Given the description of an element on the screen output the (x, y) to click on. 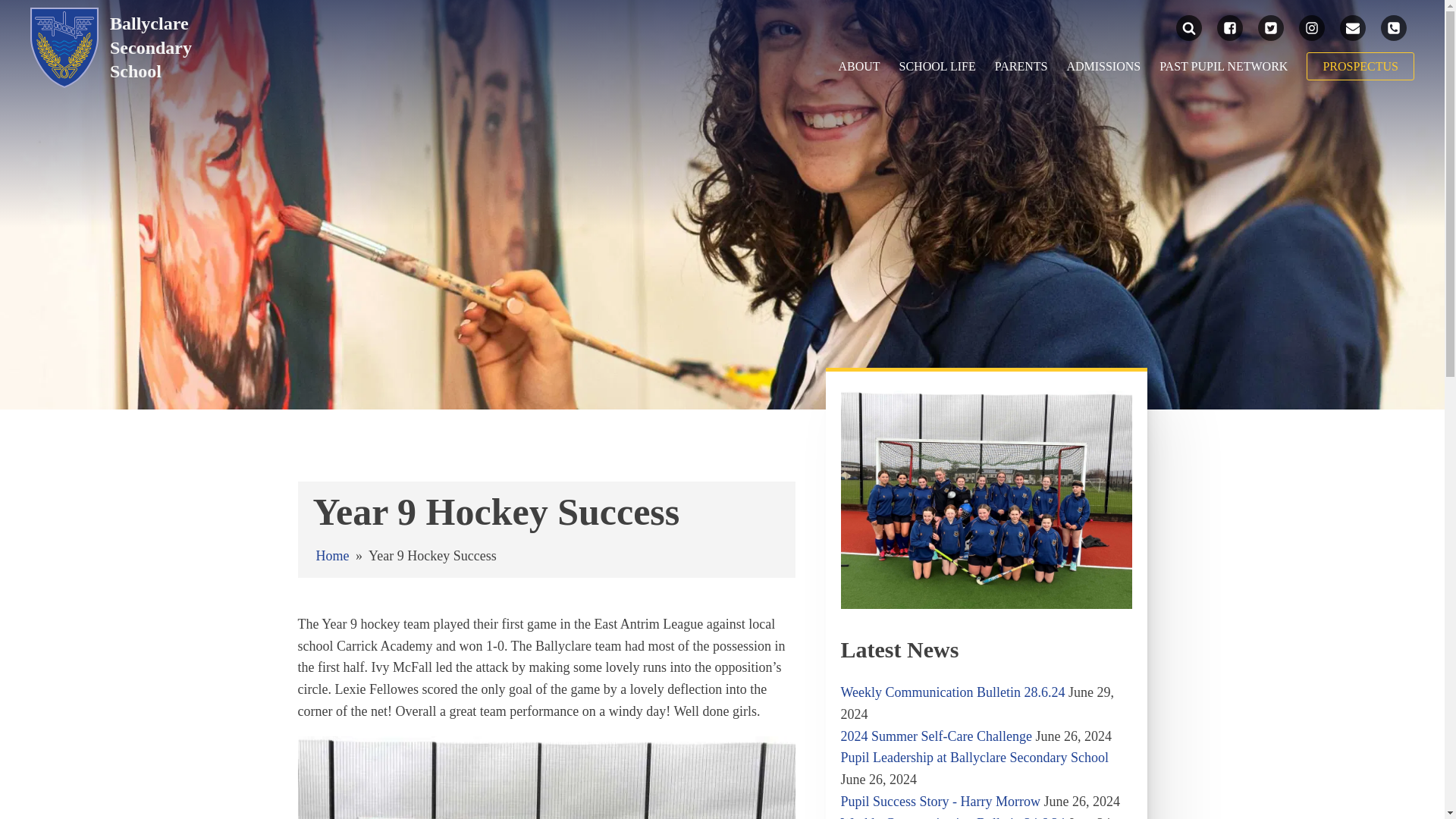
PARENTS (1021, 66)
Breadcrumb link to Home (332, 555)
SCHOOL LIFE (937, 66)
ABOUT (858, 66)
Search (27, 10)
